Given the description of an element on the screen output the (x, y) to click on. 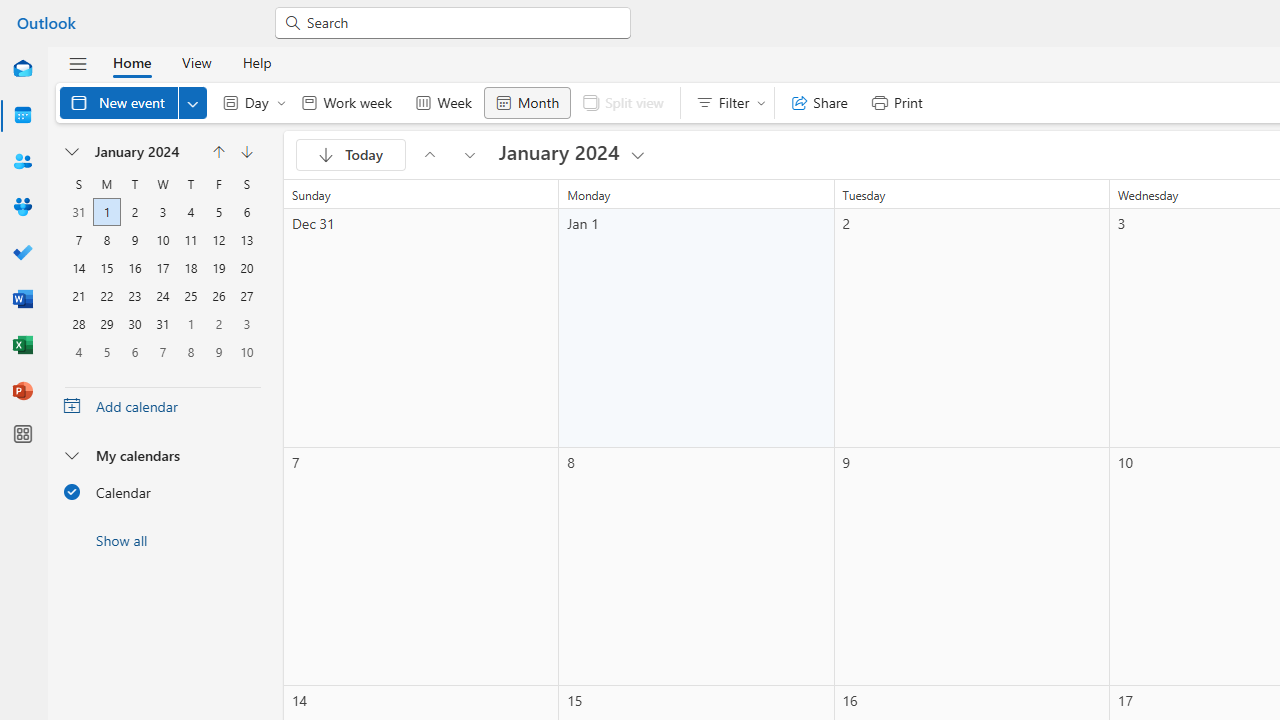
Sunday (79, 183)
Home (132, 61)
26, January, 2024 (218, 296)
16, January, 2024 (134, 268)
My calendarsCalendar (162, 479)
Print (896, 102)
28, January, 2024 (79, 323)
Go to previous month December (218, 152)
7, January, 2024 (79, 240)
8, February, 2024 (190, 351)
Search (461, 21)
System (10, 11)
Date selector (73, 152)
Word (22, 299)
27, January, 2024 (246, 296)
